Given the description of an element on the screen output the (x, y) to click on. 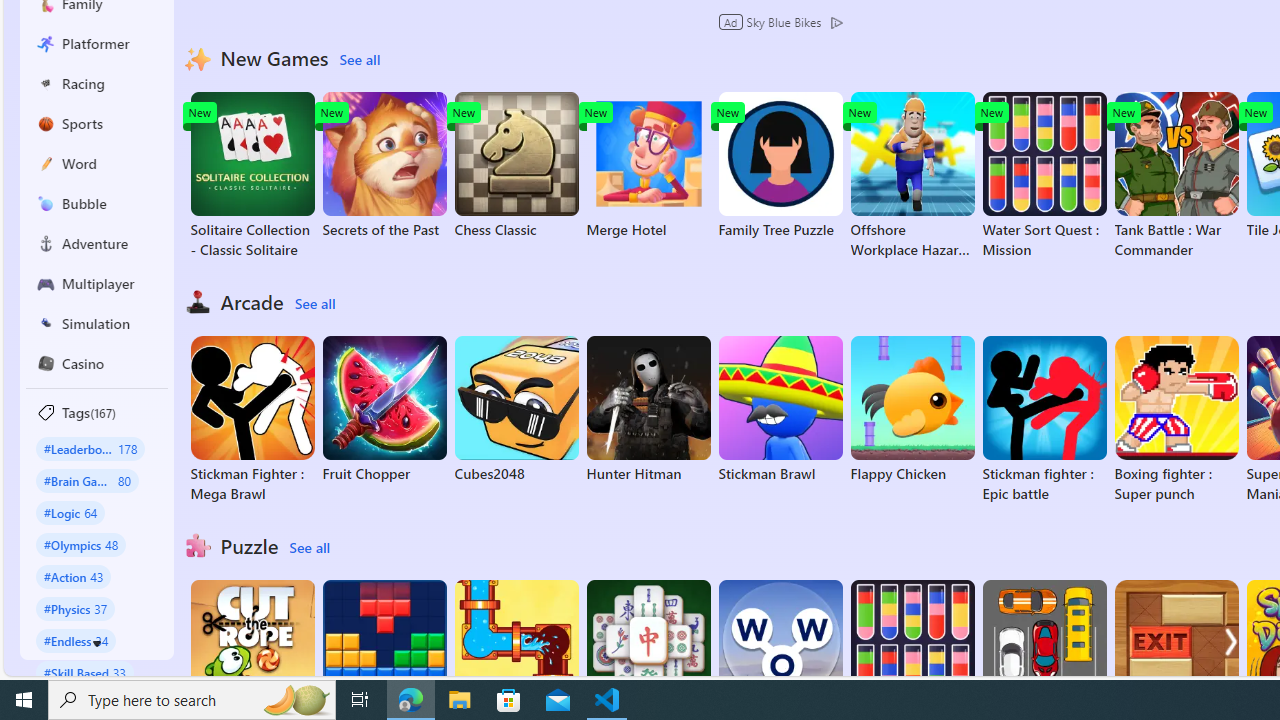
Ad (732, 21)
#Leaderboard 178 (90, 448)
Boxing fighter : Super punch (1176, 419)
#Logic 64 (70, 511)
Class: arrow-bottom button-default-style-remove (97, 643)
Stickman Brawl (780, 409)
Offshore Workplace Hazard Game (912, 175)
#Action 43 (73, 575)
See all (309, 547)
Hunter Hitman (648, 409)
Class: ad-choice  ad-choice-mono  (836, 21)
Chess Classic (516, 165)
#Endless 34 (75, 640)
Flappy Chicken (912, 409)
Fruit Chopper (384, 409)
